Given the description of an element on the screen output the (x, y) to click on. 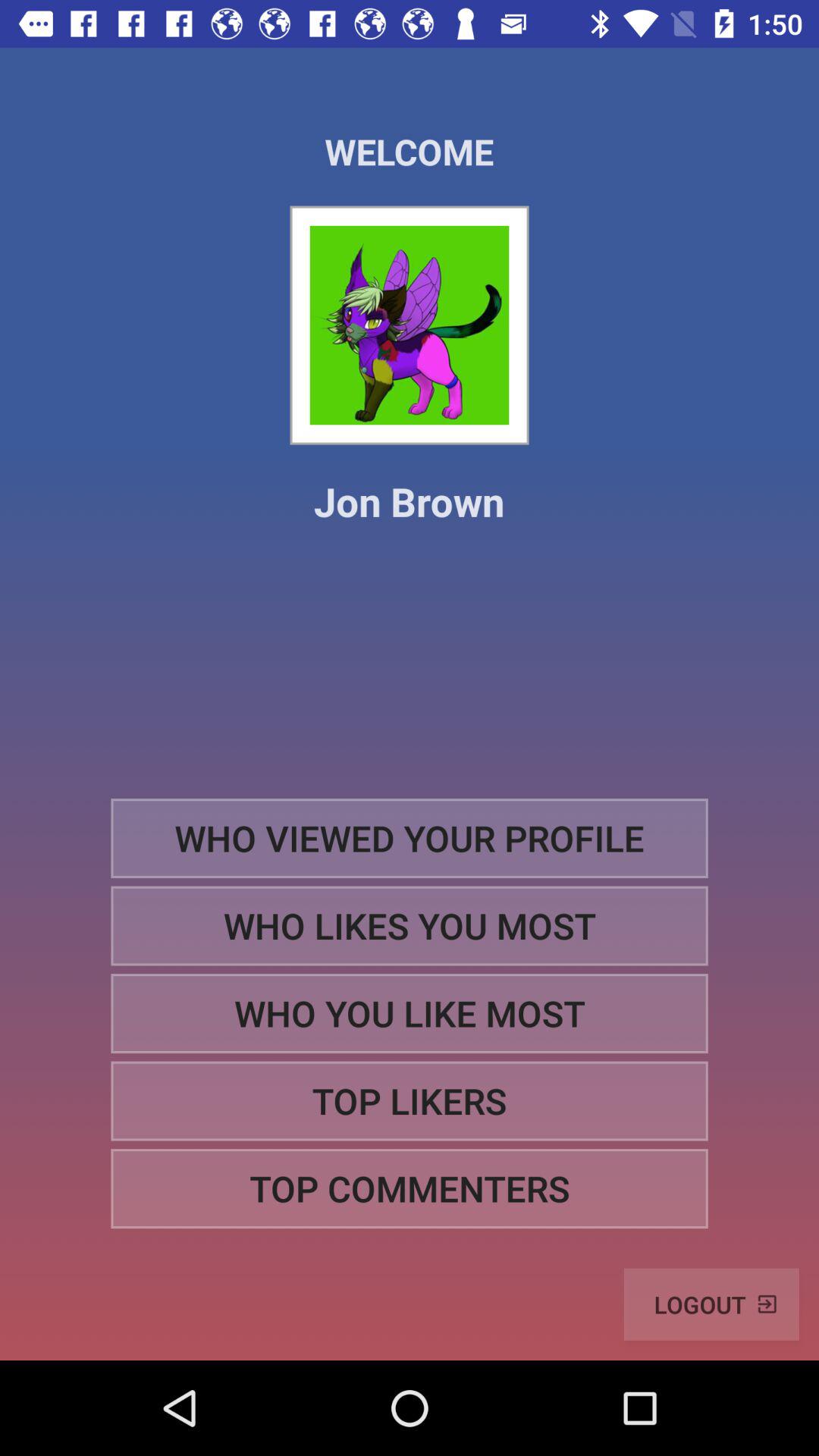
choose the item below top commenters item (711, 1304)
